Given the description of an element on the screen output the (x, y) to click on. 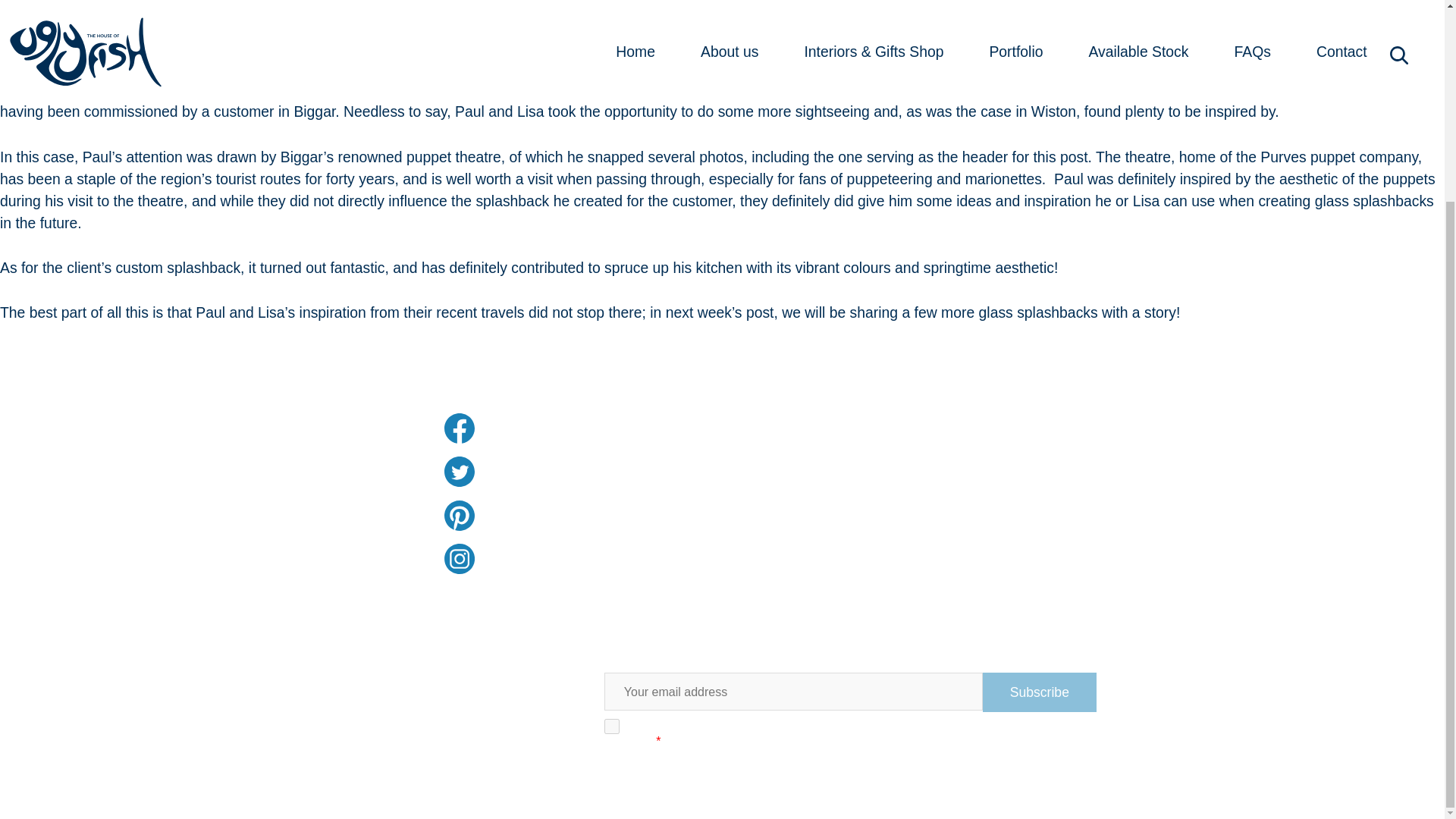
About us (290, 454)
Gift Vouchers (290, 542)
FAQs (290, 483)
Available Stock (290, 513)
Follow us on instagram (626, 558)
Follow us on Twitter (626, 471)
glass splashbacks (1037, 312)
Pin us on Pinterest (626, 515)
01407 728 228 (906, 513)
Find us on Facebook (626, 428)
Contact (290, 423)
